Given the description of an element on the screen output the (x, y) to click on. 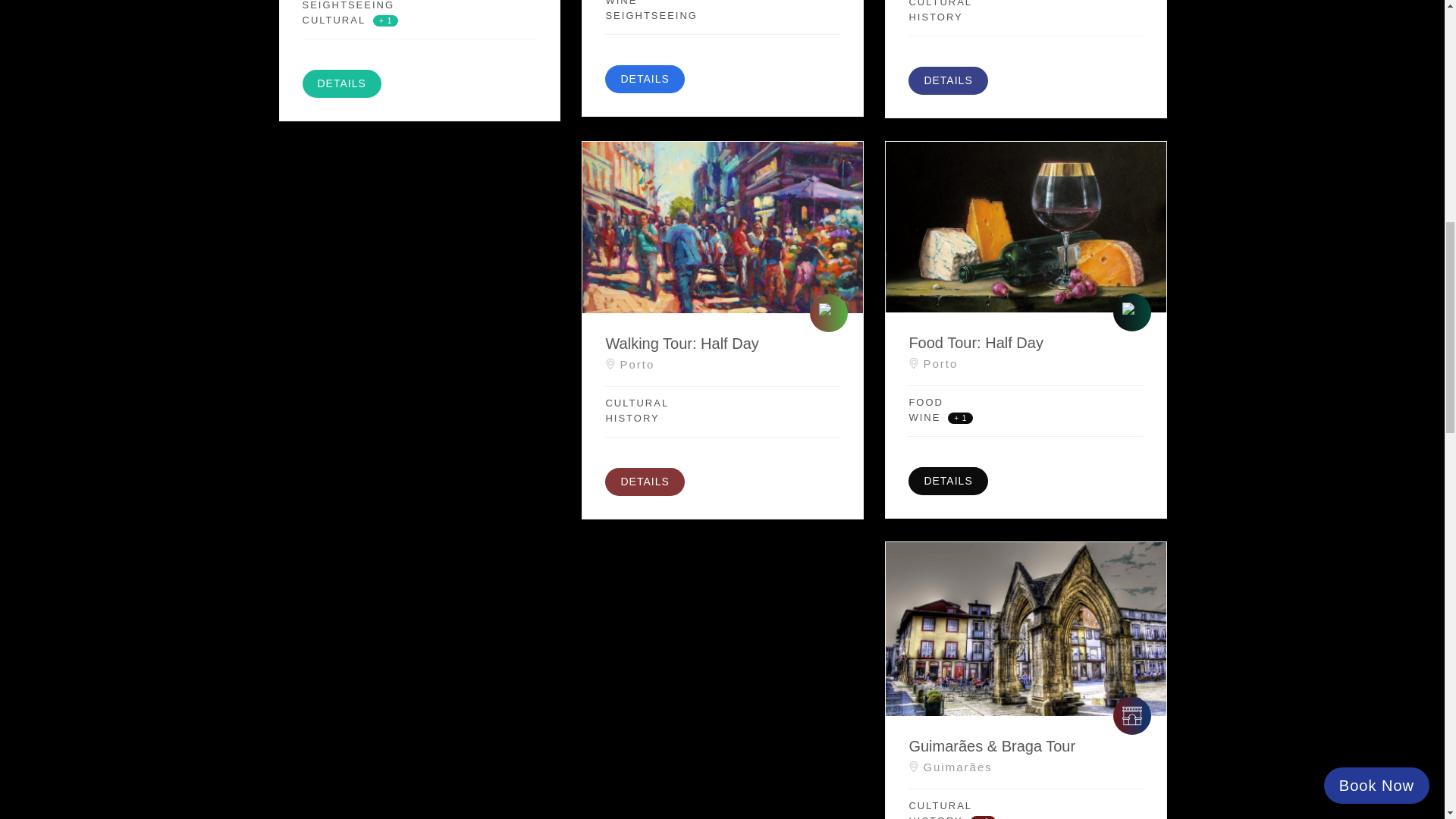
DETAILS (644, 79)
Porto (1025, 359)
Porto (722, 360)
FareHarbor (1342, 64)
SEIGHTSEEING (360, 4)
SEIGHTSEEING (651, 14)
Walking Tour: Half Day (722, 343)
DETAILS (644, 481)
WINE (663, 2)
DETAILS (947, 80)
Food Tour: Half Day (1025, 342)
CULTURAL (663, 402)
HISTORY (935, 16)
CULTURAL (333, 19)
DETAILS (340, 83)
